Given the description of an element on the screen output the (x, y) to click on. 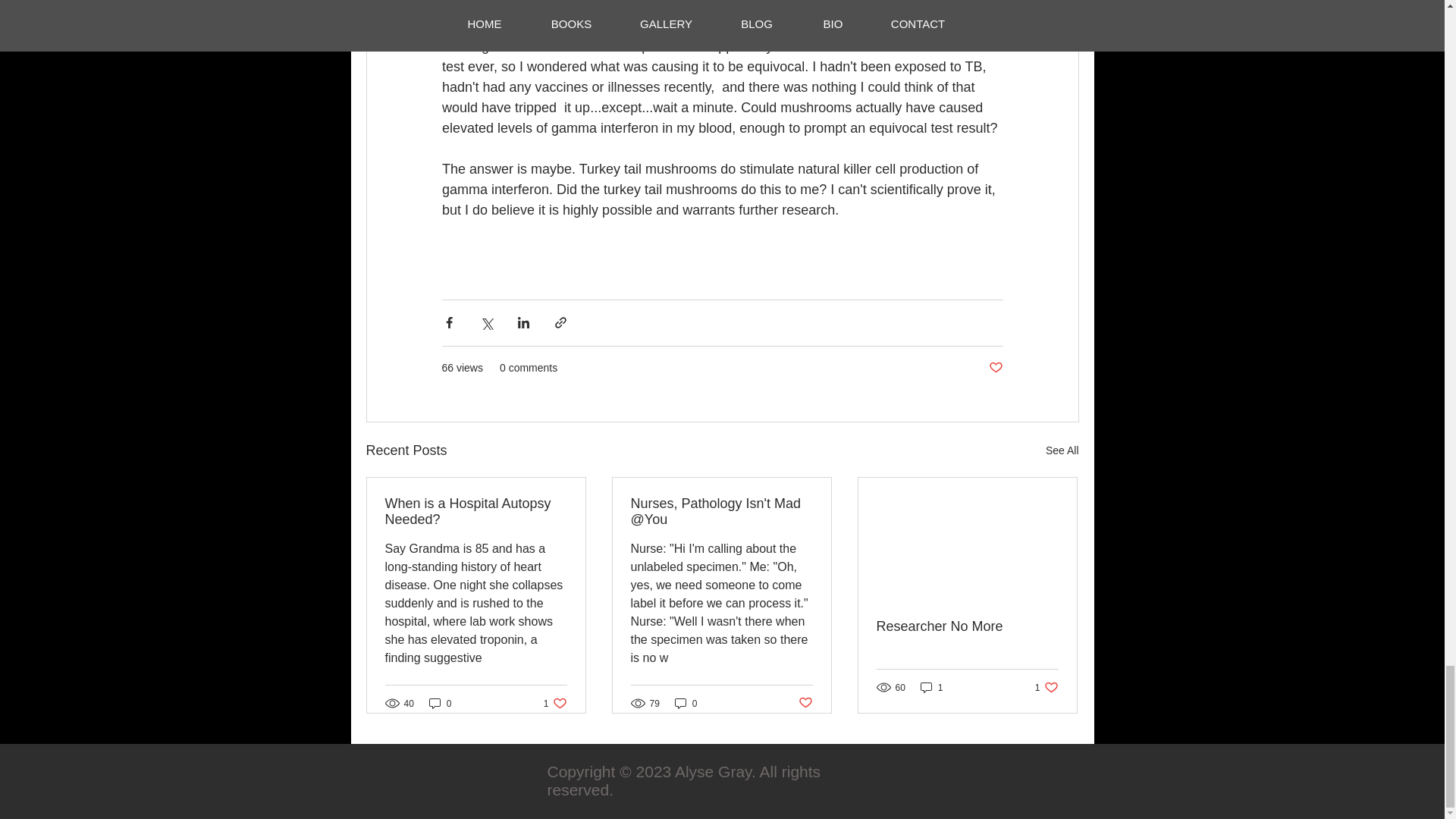
0 (440, 703)
See All (1061, 450)
When is a Hospital Autopsy Needed? (476, 511)
Post not marked as liked (995, 367)
Researcher No More (555, 703)
0 (967, 626)
Post not marked as liked (1046, 687)
1 (685, 703)
